Given the description of an element on the screen output the (x, y) to click on. 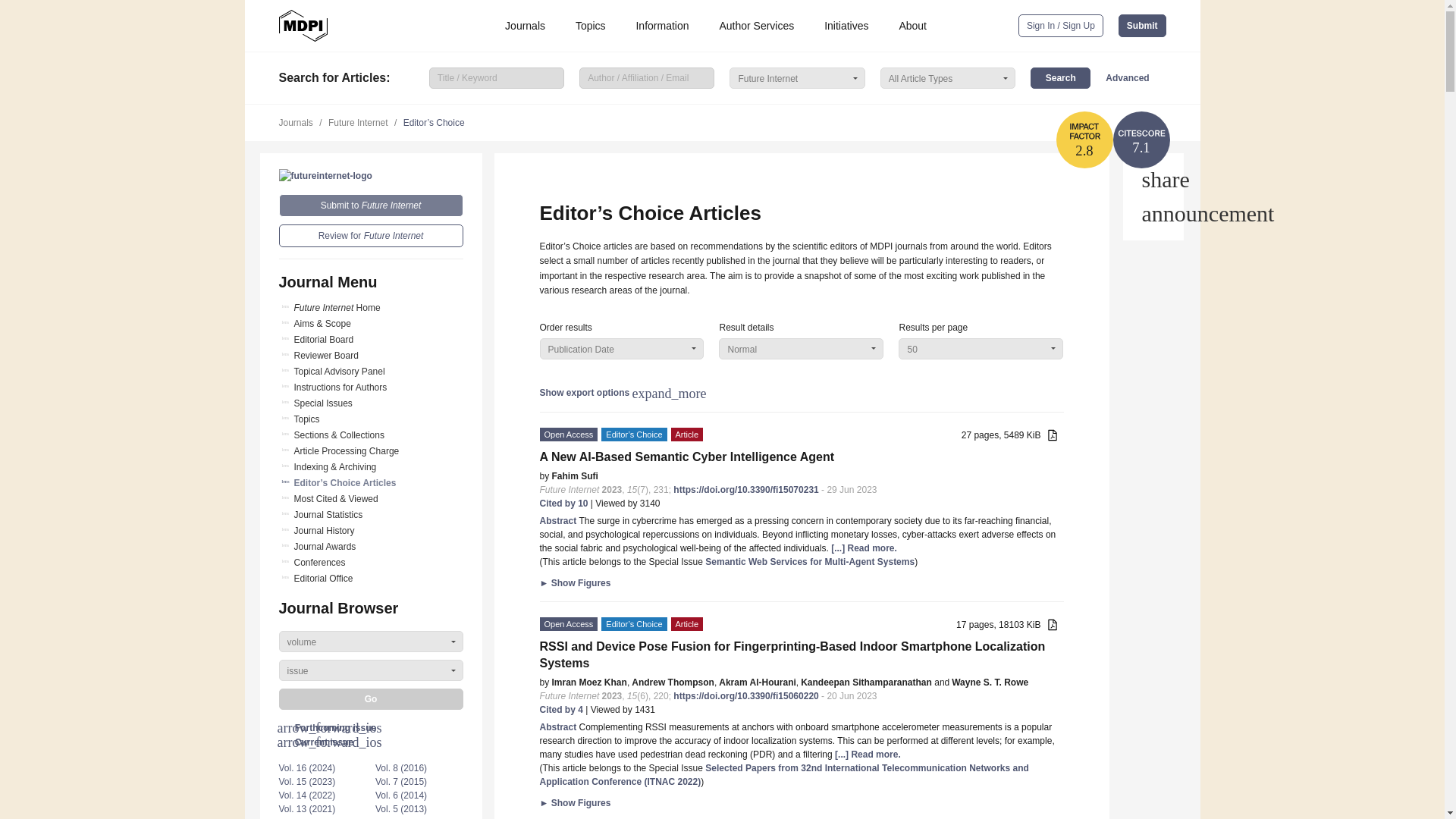
Go (371, 699)
Share (1152, 179)
Search (1060, 77)
Search (1060, 77)
MDPI Open Access Journals (303, 25)
Help (1152, 213)
Future Internet (325, 175)
